Given the description of an element on the screen output the (x, y) to click on. 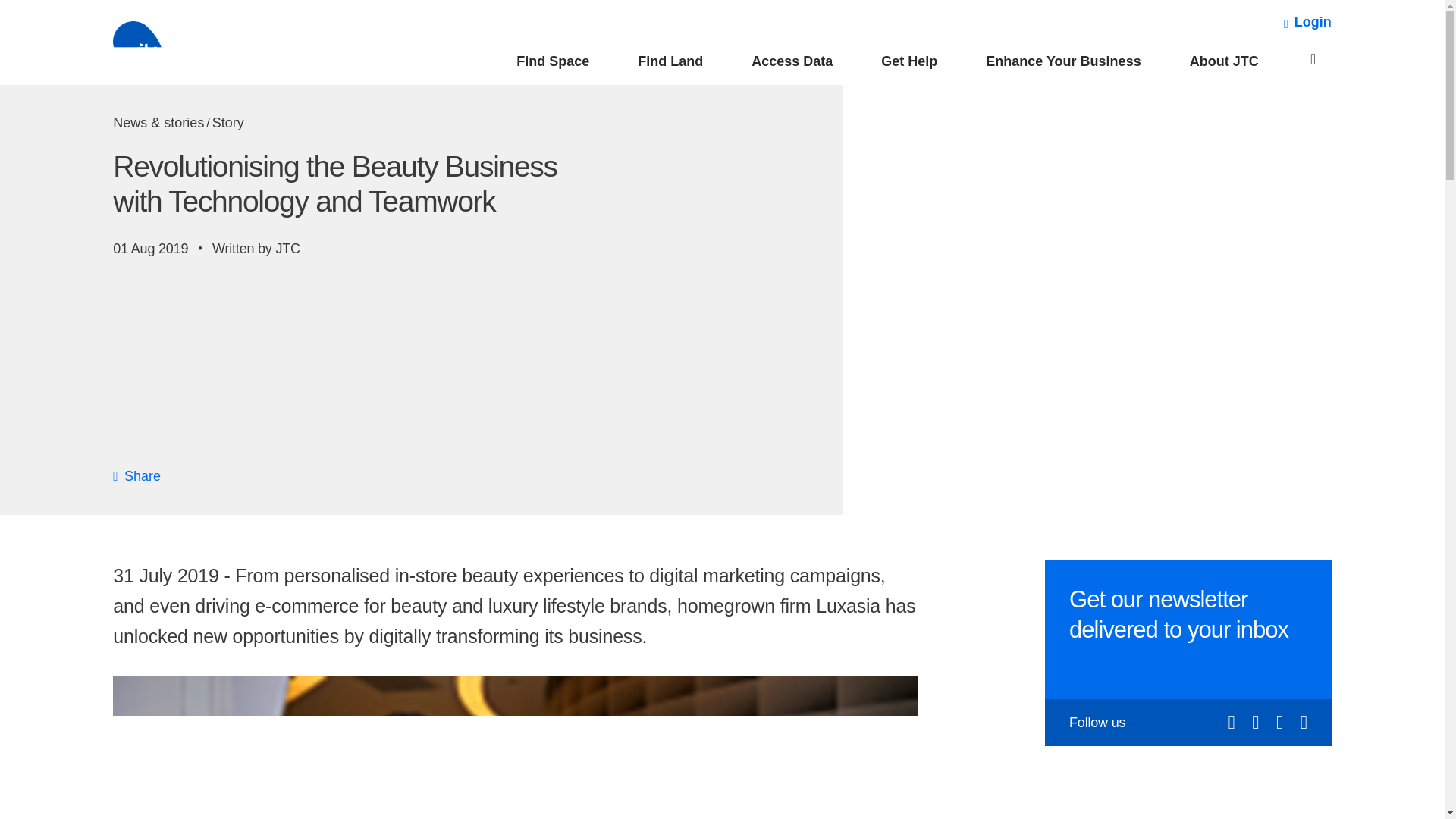
Find Space (552, 65)
Story (228, 122)
Access Data (791, 65)
Login (1308, 22)
Find Land (670, 65)
